Given the description of an element on the screen output the (x, y) to click on. 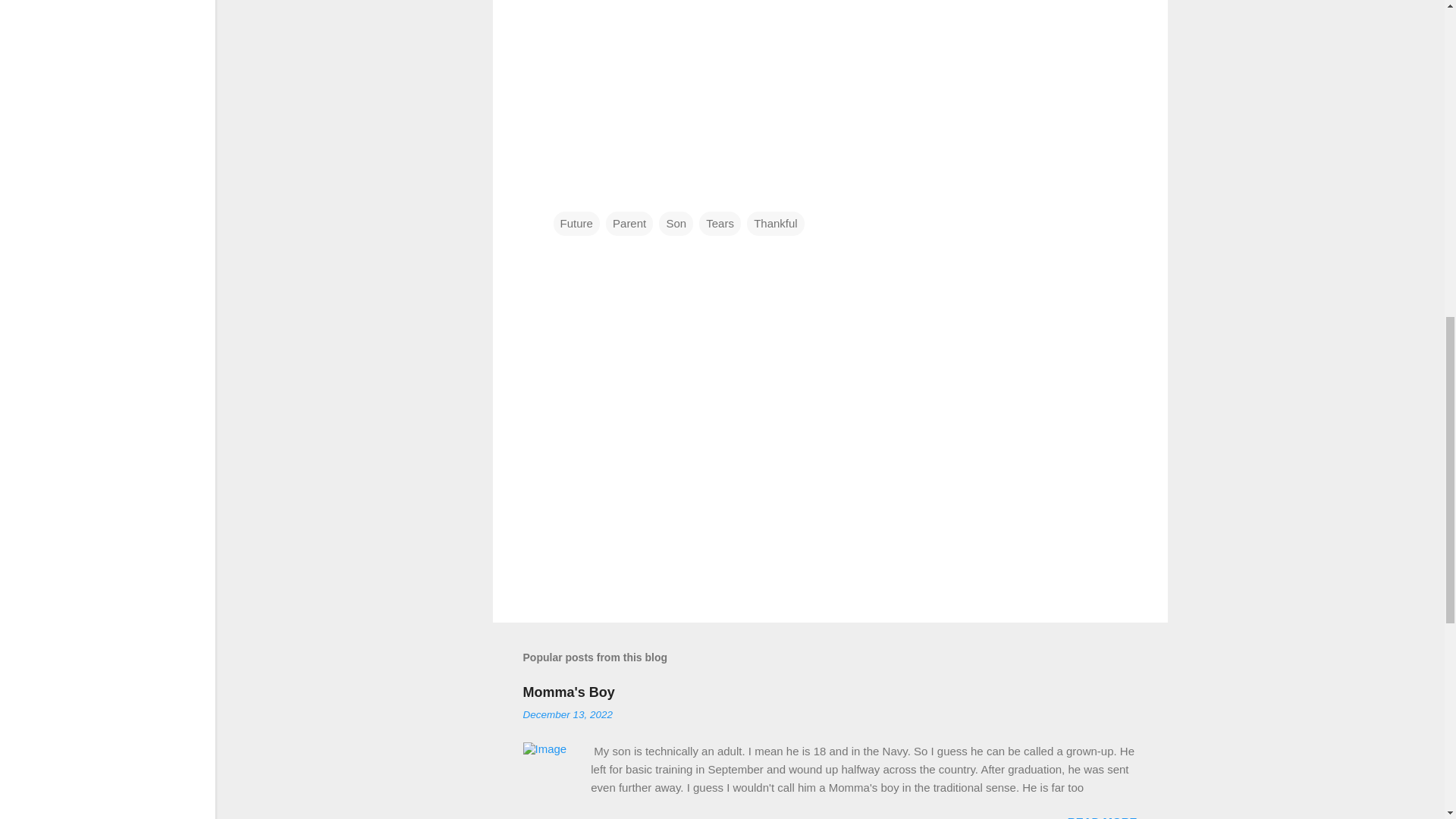
December 13, 2022 (567, 714)
READ MORE (1102, 816)
permanent link (567, 714)
Tears (719, 222)
Thankful (775, 222)
Son (676, 222)
Momma's Boy (568, 692)
Parent (628, 222)
Future (576, 222)
